Given the description of an element on the screen output the (x, y) to click on. 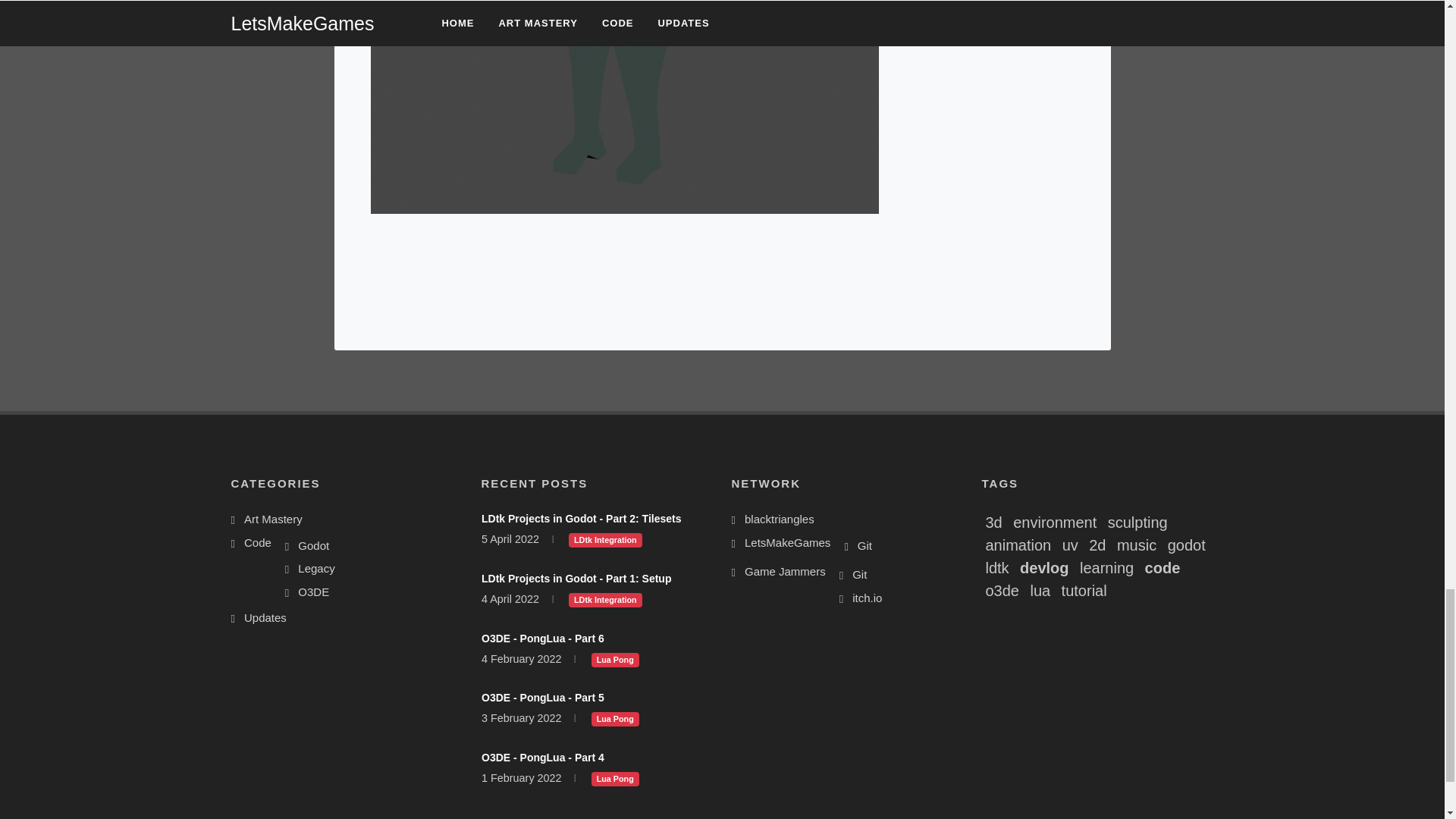
music (1136, 545)
itch.io (863, 598)
Updates (261, 618)
Lua Pong (615, 658)
LDtk Integration (605, 598)
3d (994, 522)
uv (1070, 545)
Legacy (312, 569)
Git (856, 574)
LDtk Projects in Godot - Part 2: Tilesets (579, 518)
LDtk Projects in Godot - Part 1: Setup (574, 578)
LDtk Integration (605, 539)
Art Mastery (269, 519)
sculpting (1137, 522)
environment (1054, 522)
